Given the description of an element on the screen output the (x, y) to click on. 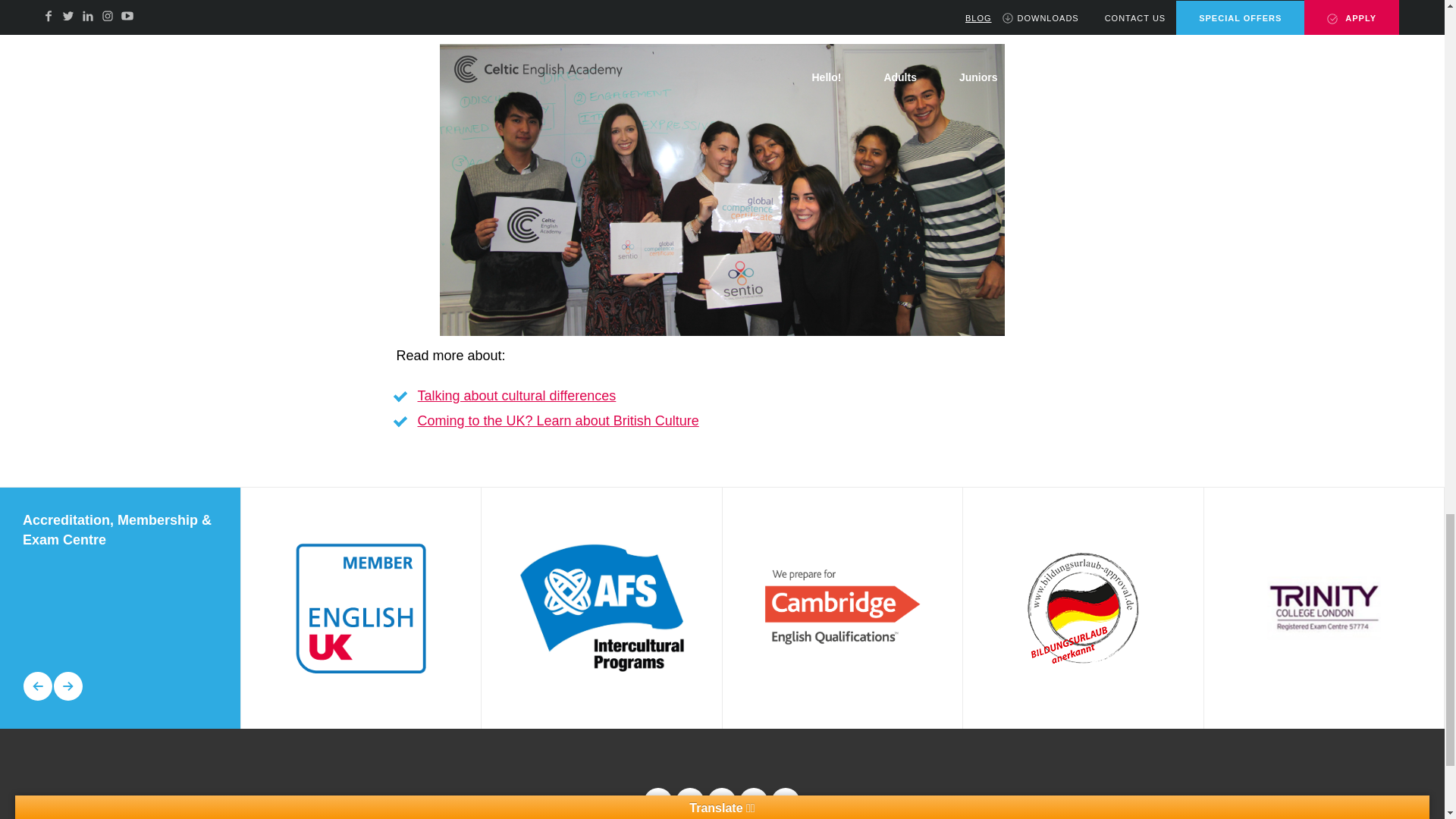
Find us on Instagram (753, 802)
Find us on LinkedIn (721, 802)
Find us on Facebook (657, 802)
Find us on YouTube (785, 802)
Find us on Twitter (689, 802)
